Given the description of an element on the screen output the (x, y) to click on. 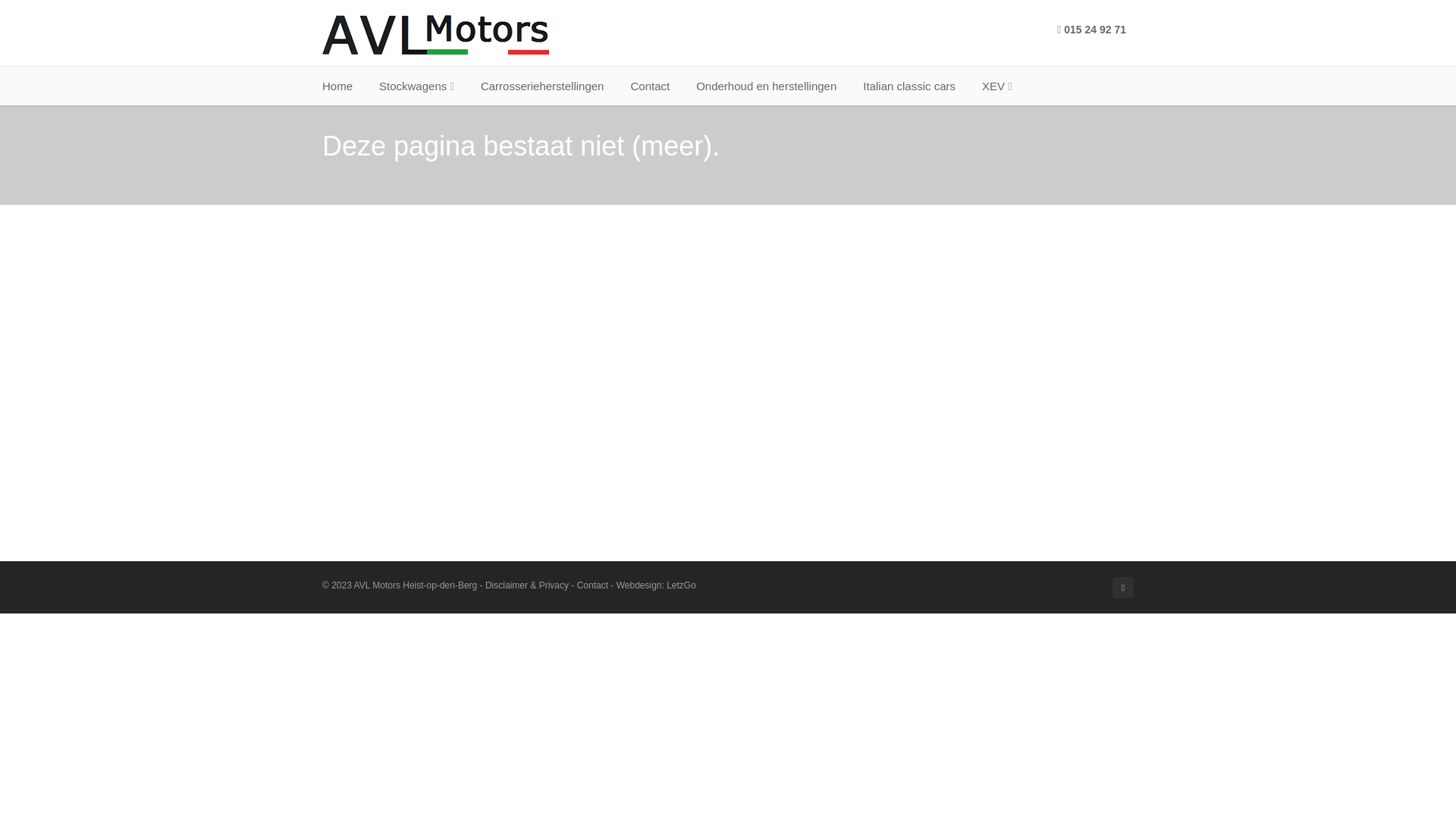
Disclaimer & Privacy Element type: text (526, 585)
Onderhoud en herstellingen Element type: text (766, 86)
Home Element type: text (337, 86)
XEV Element type: text (997, 86)
Stockwagens Element type: text (416, 86)
Contact Element type: text (649, 86)
Contact Element type: text (592, 585)
Italian classic cars Element type: text (908, 86)
Webdesign: LetzGo Element type: text (656, 585)
Carrosserieherstellingen Element type: text (542, 86)
